Given the description of an element on the screen output the (x, y) to click on. 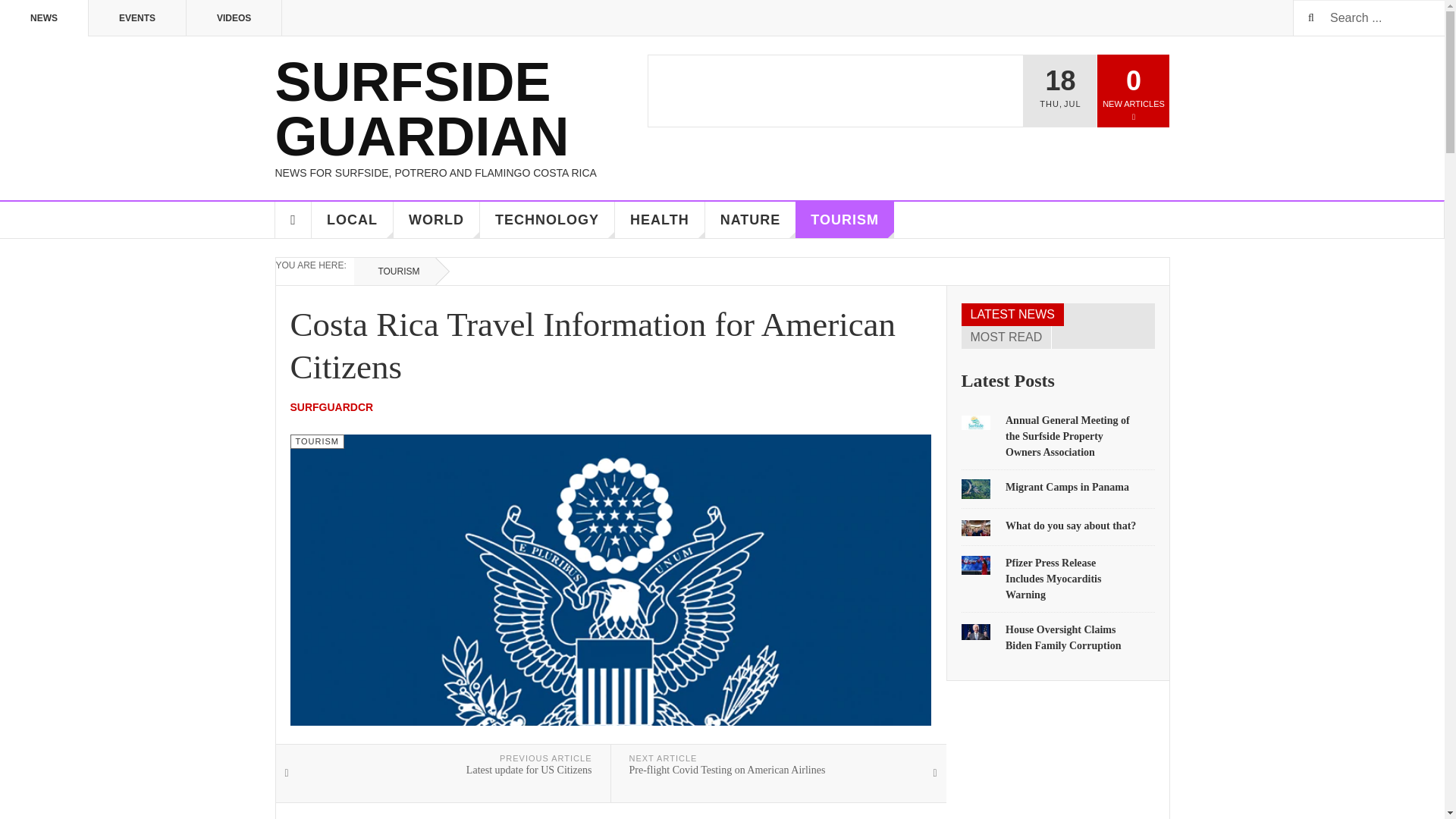
NEWS (44, 18)
EVENTS (137, 18)
Local News for Surfside, Potrero and Flamingo (352, 219)
SURFSIDE GUARDIAN (461, 108)
LOCAL (352, 219)
VIDEOS (234, 18)
Surfside Guardian (461, 108)
HOME (293, 219)
